Given the description of an element on the screen output the (x, y) to click on. 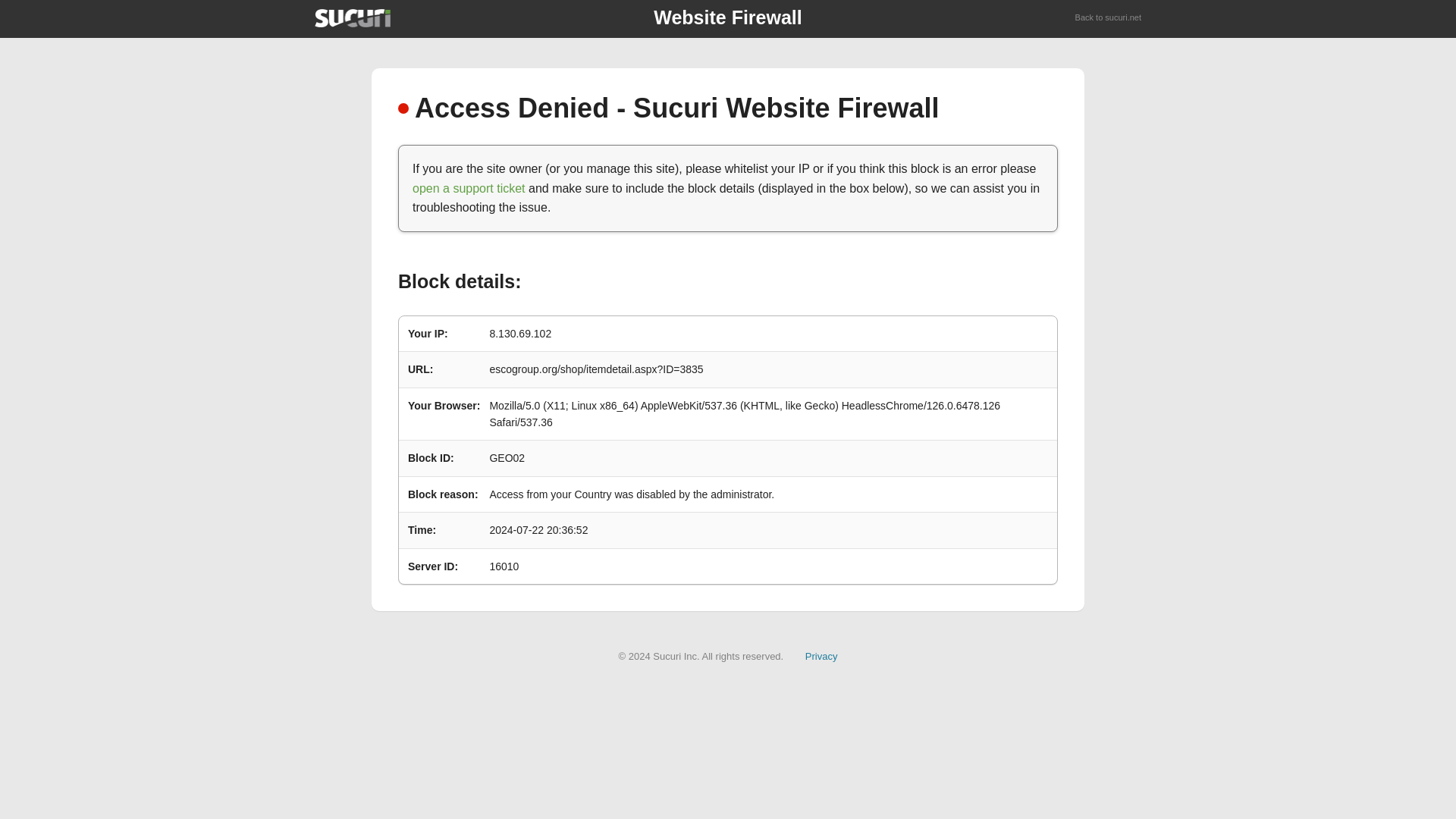
open a support ticket (468, 187)
Back to sucuri.net (1108, 18)
Privacy (821, 655)
